Given the description of an element on the screen output the (x, y) to click on. 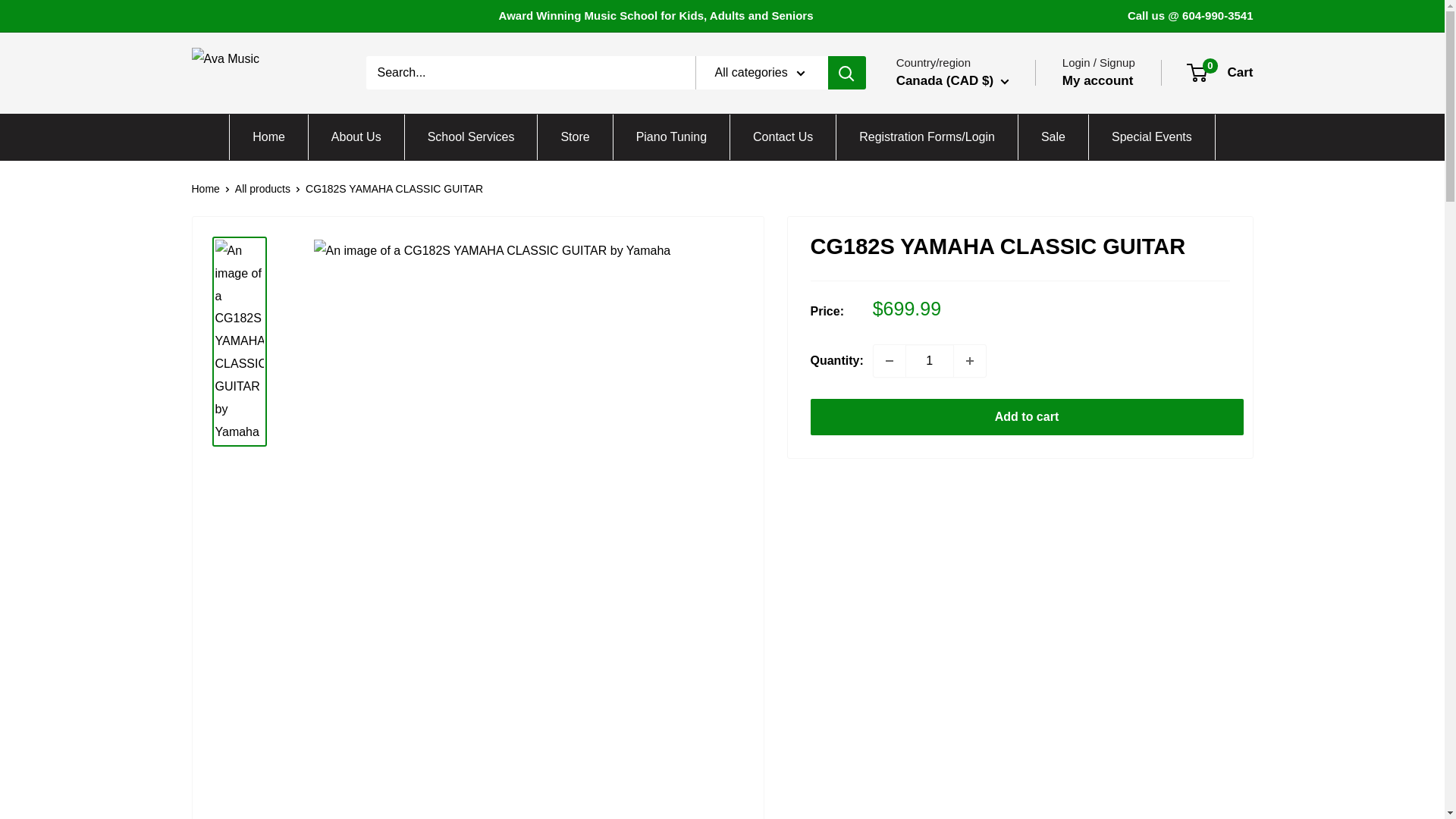
1 (929, 360)
Increase quantity by 1 (969, 360)
Decrease quantity by 1 (889, 360)
